Given the description of an element on the screen output the (x, y) to click on. 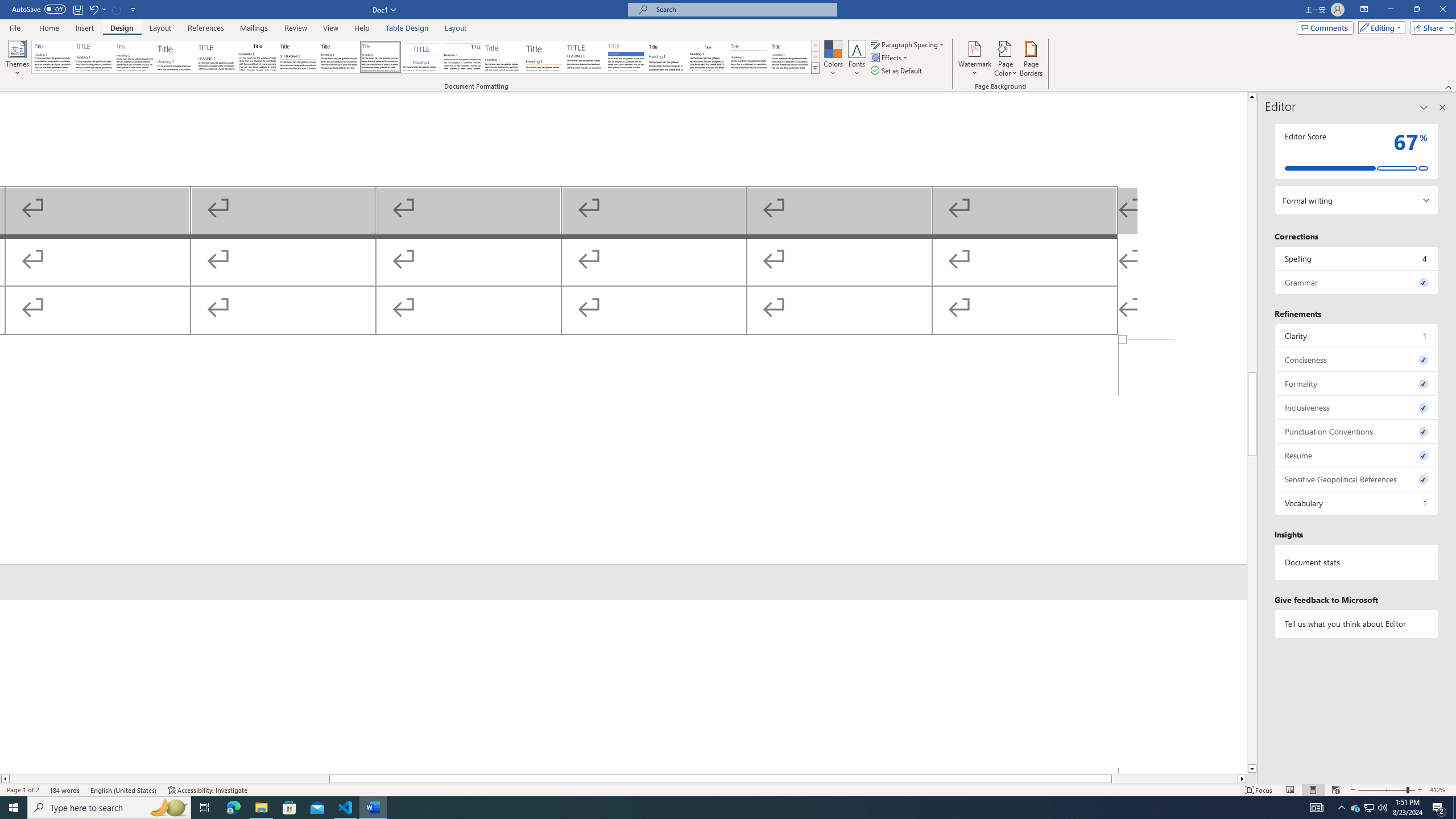
Watermark (974, 58)
Undo Outline Move Up (96, 9)
Word 2013 (790, 56)
Lines (Simple) (503, 56)
